Given the description of an element on the screen output the (x, y) to click on. 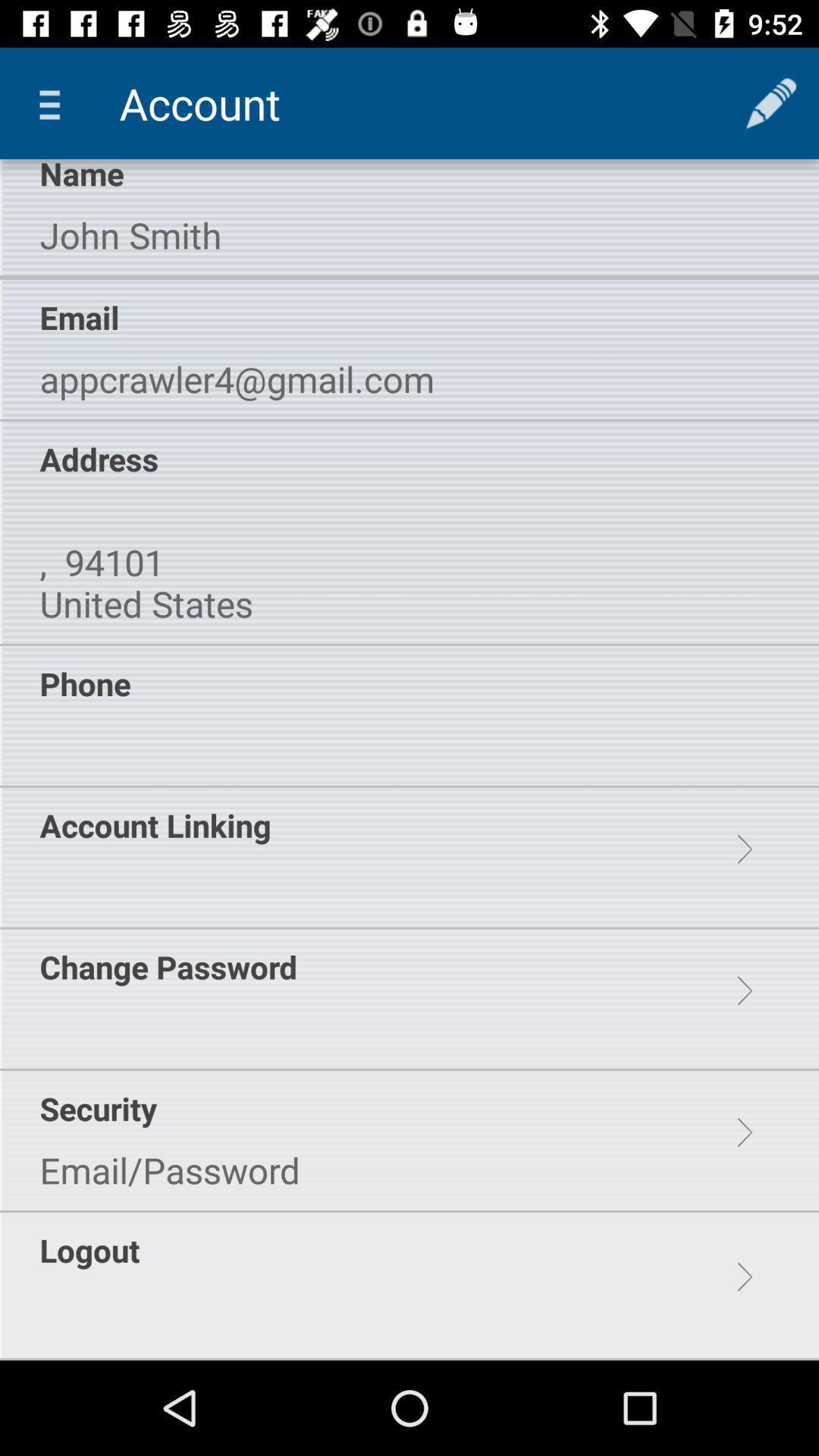
launch email/password (169, 1170)
